Given the description of an element on the screen output the (x, y) to click on. 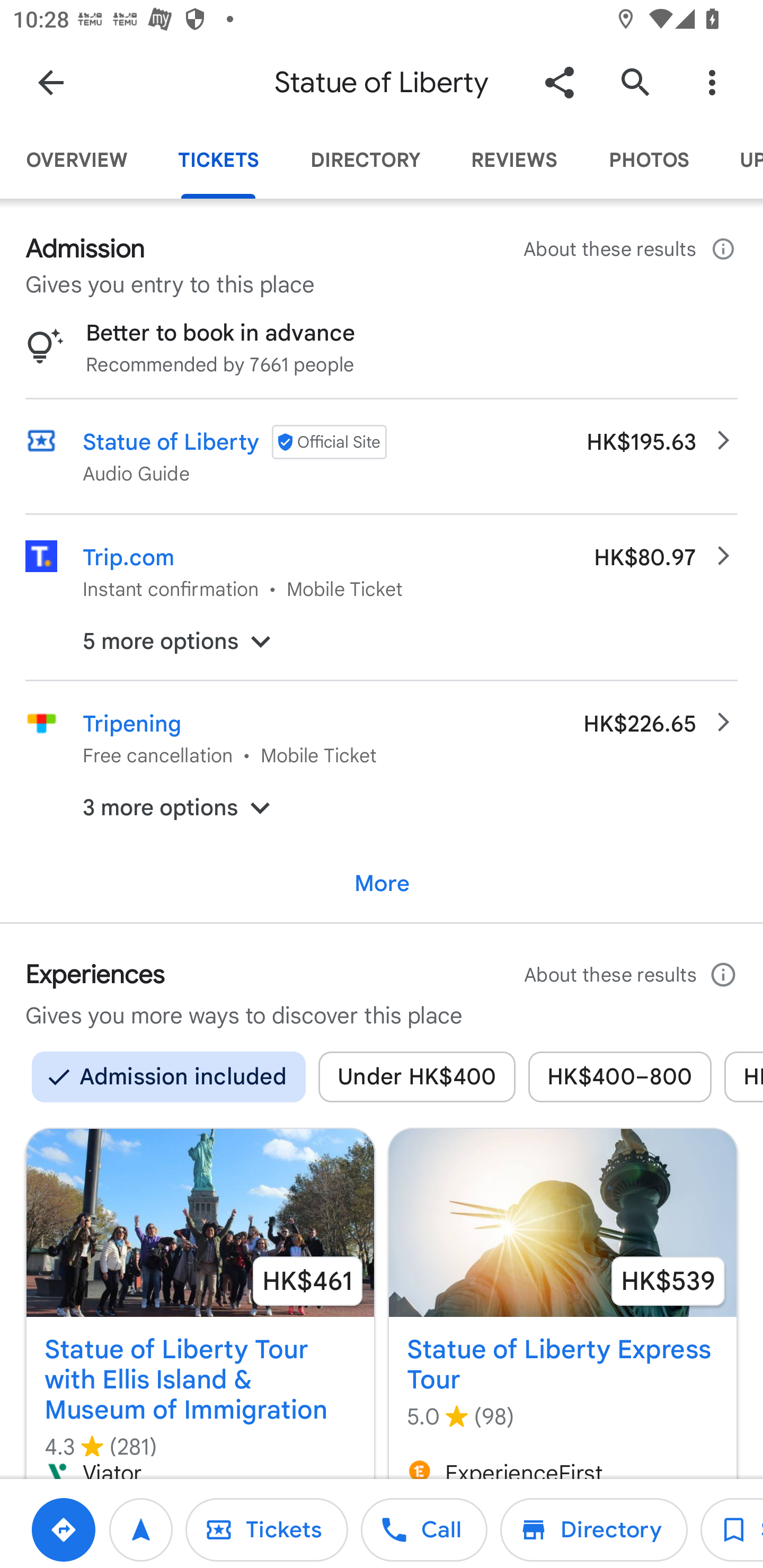
Back to Search (50, 81)
Share (559, 81)
Search (635, 81)
More options for Statue of Liberty (711, 81)
OVERVIEW Overview (76, 160)
DIRECTORY Directory (364, 160)
REVIEWS Reviews (513, 160)
PHOTOS Photos (648, 160)
About these results (630, 249)
5 more options (381, 640)
3 more options (381, 807)
More (381, 883)
About these results (630, 974)
Under HK$400 Under HK$400 Under HK$400 (416, 1076)
HK$400–800 HK$400–800 HK$400–800 (619, 1076)
Directions to Statue of Liberty (63, 1529)
Start (141, 1529)
Tickets (266, 1529)
Call Statue of Liberty Call Call Statue of Liberty (423, 1529)
Directory Directory Directory (593, 1529)
